Given the description of an element on the screen output the (x, y) to click on. 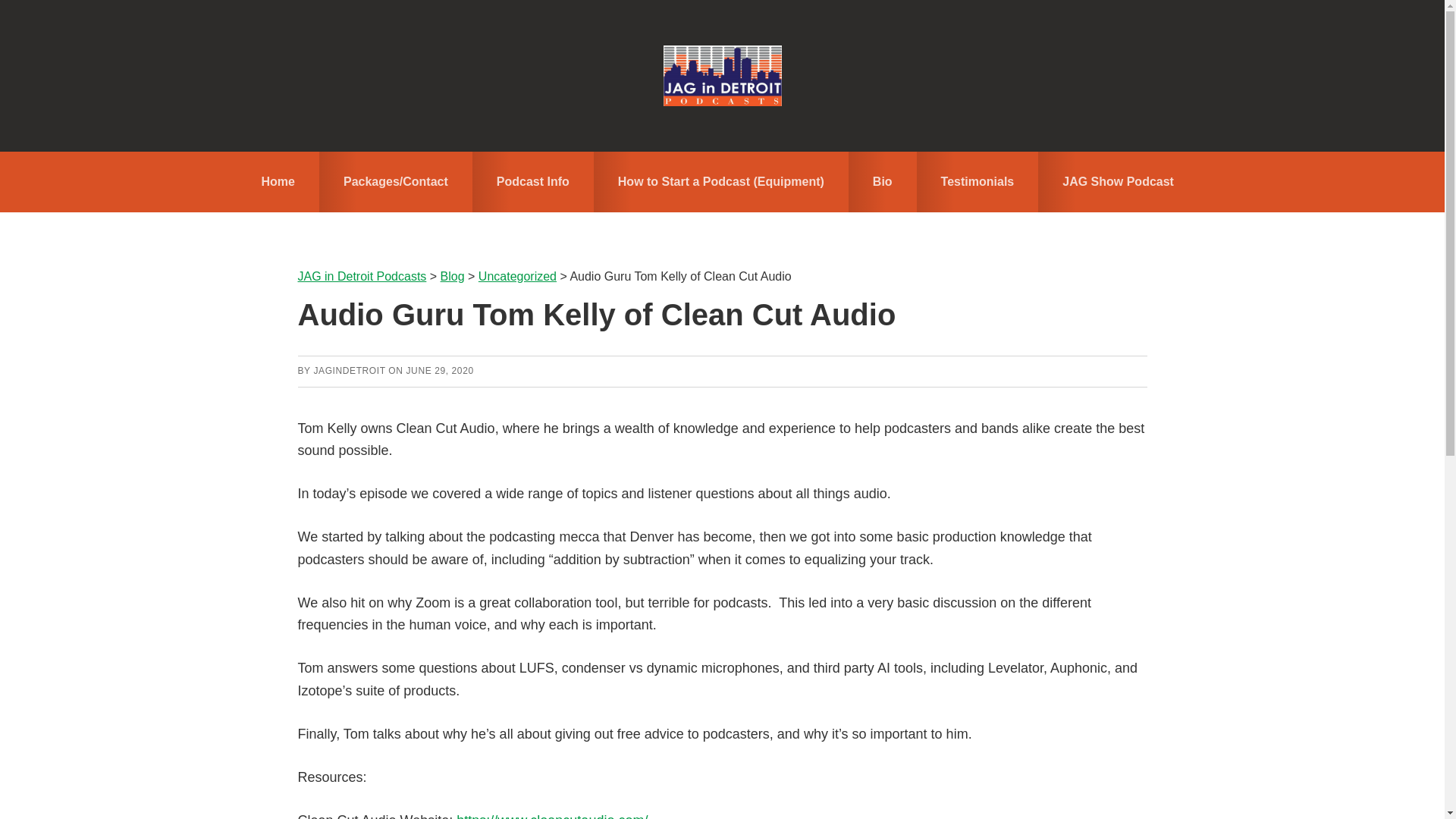
Testimonials (978, 181)
Home (276, 181)
Go to JAG in Detroit Podcasts. (361, 276)
Blog (452, 276)
Uncategorized (517, 276)
JAG in Detroit Podcasts (361, 276)
Go to Blog. (452, 276)
JAGINDETROIT (349, 370)
Podcast Info (532, 181)
JAG in Detroit Podcasts (722, 75)
